Given the description of an element on the screen output the (x, y) to click on. 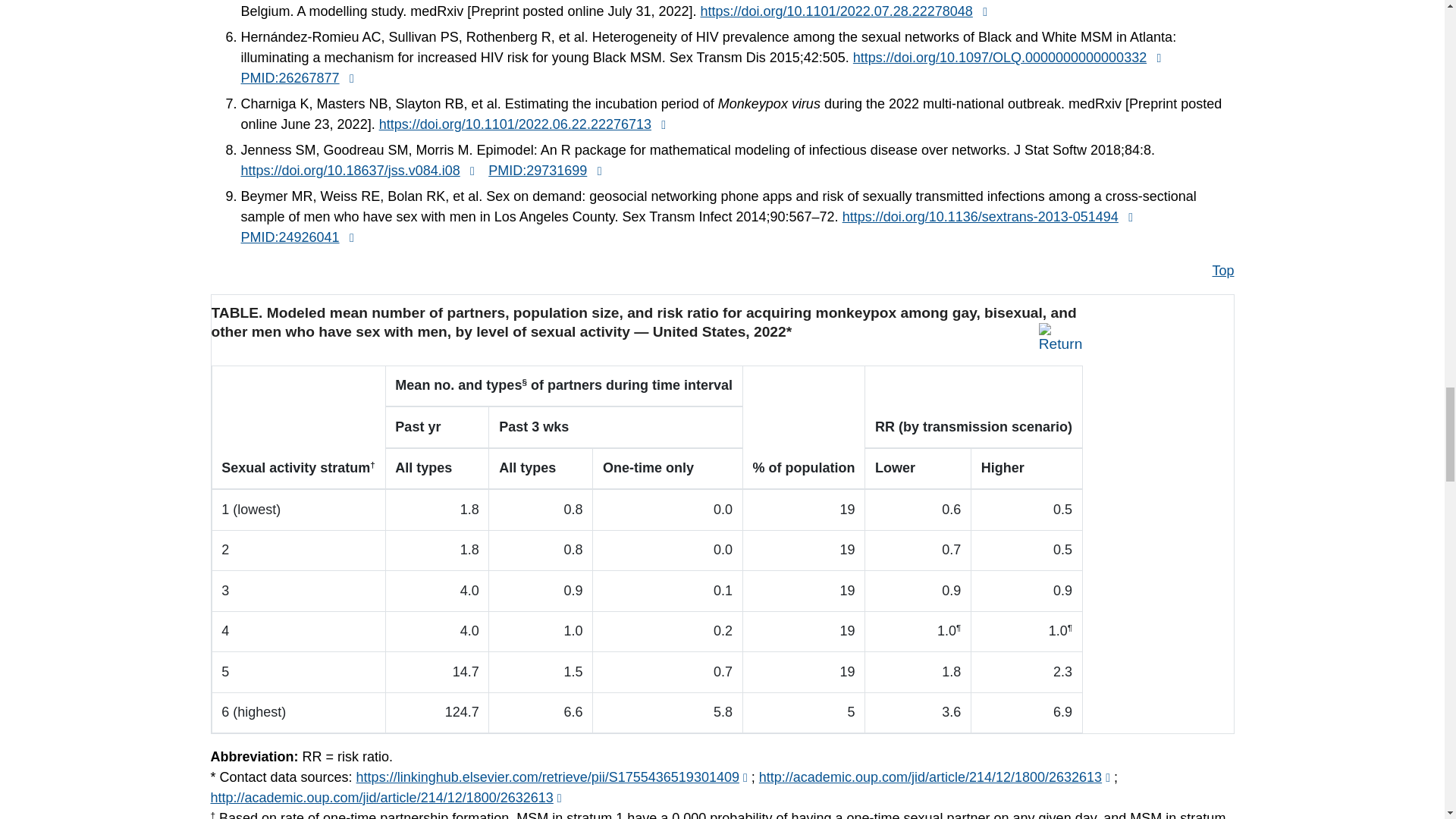
Return to your place in the text (1061, 335)
